Given the description of an element on the screen output the (x, y) to click on. 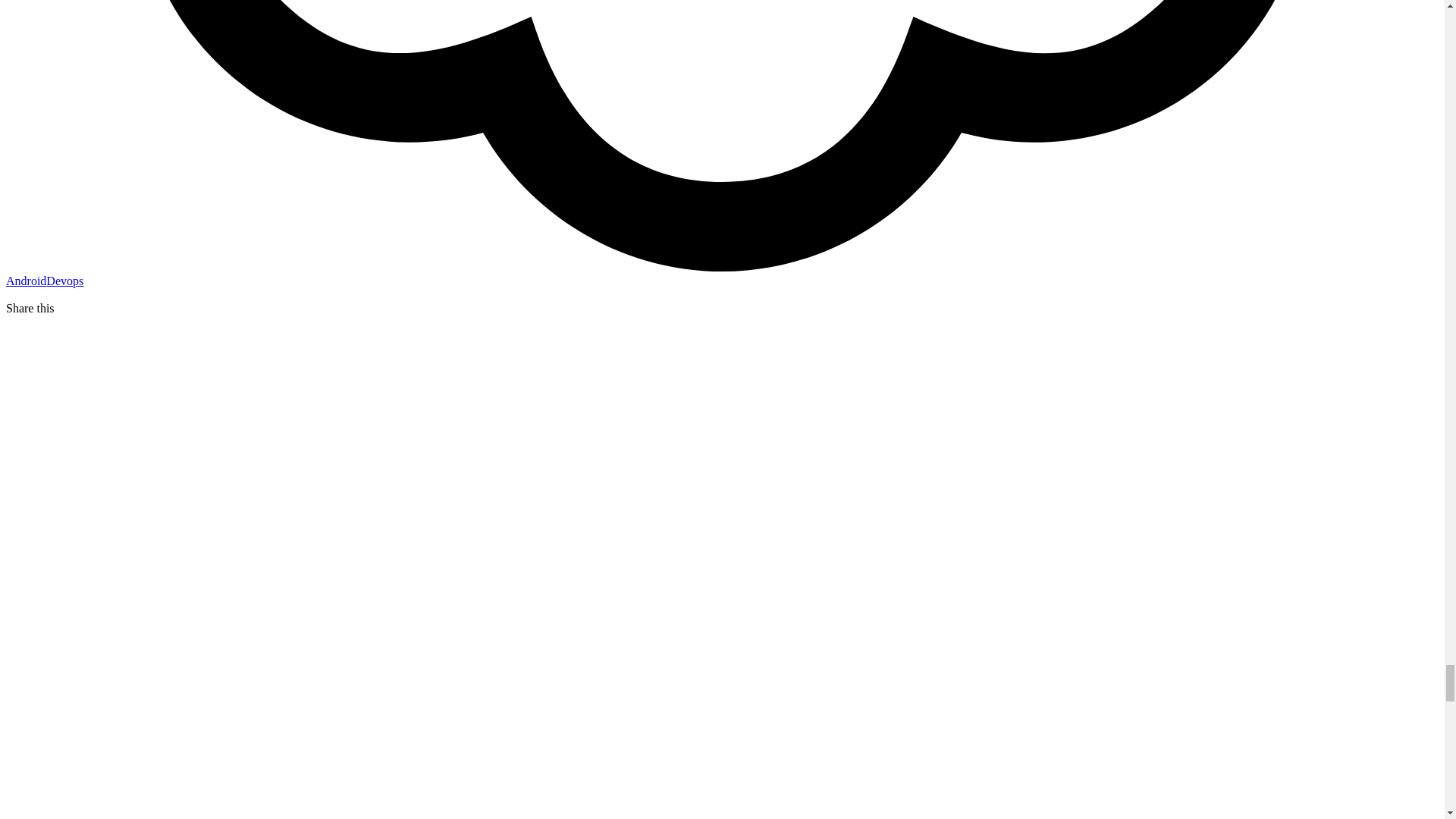
Android (25, 280)
Devops (64, 280)
